Given the description of an element on the screen output the (x, y) to click on. 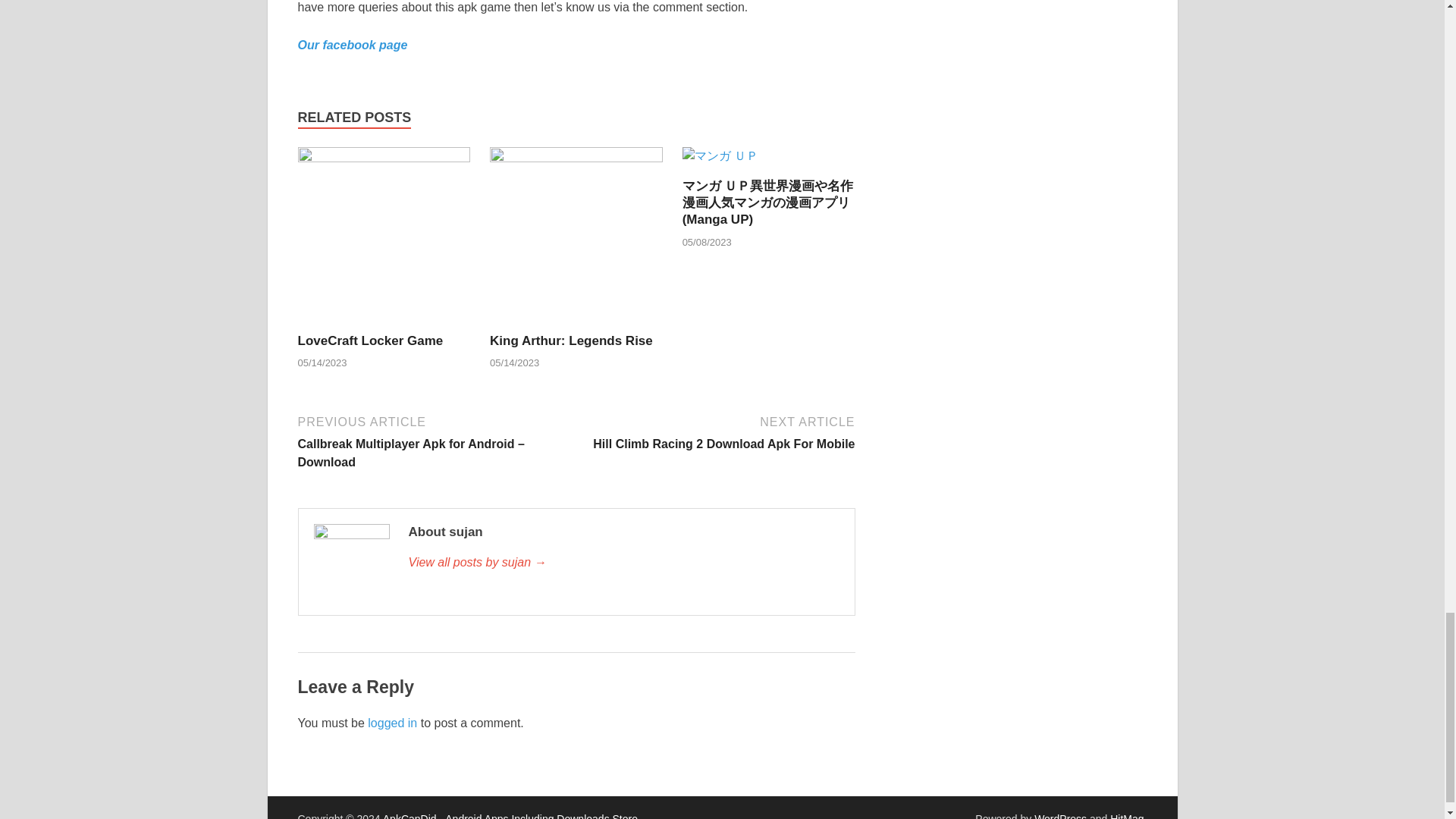
King Arthur: Legends Rise (575, 238)
LoveCraft Locker Game (369, 340)
sujan (622, 562)
Our facebook page (352, 44)
King Arthur: Legends Rise (570, 340)
LoveCraft Locker Game (383, 238)
